Given the description of an element on the screen output the (x, y) to click on. 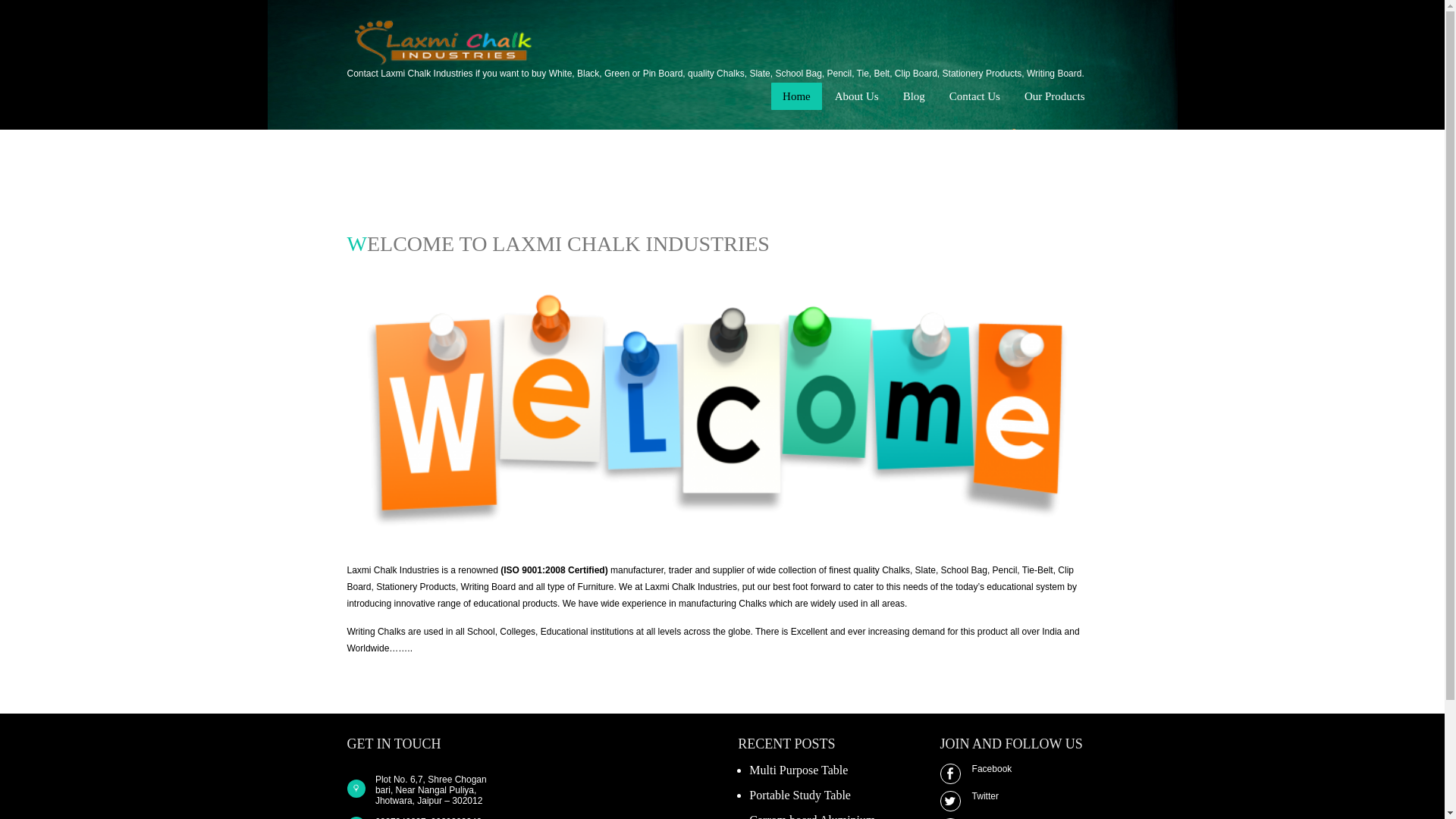
Facebook (1018, 768)
Our Products (1054, 95)
Carrom board Aluminium framing (812, 816)
Contact Us (974, 95)
Portable Study Table (799, 794)
Blog (913, 95)
Multi Purpose Table (798, 769)
About Us (856, 95)
Twitter (1018, 796)
